Given the description of an element on the screen output the (x, y) to click on. 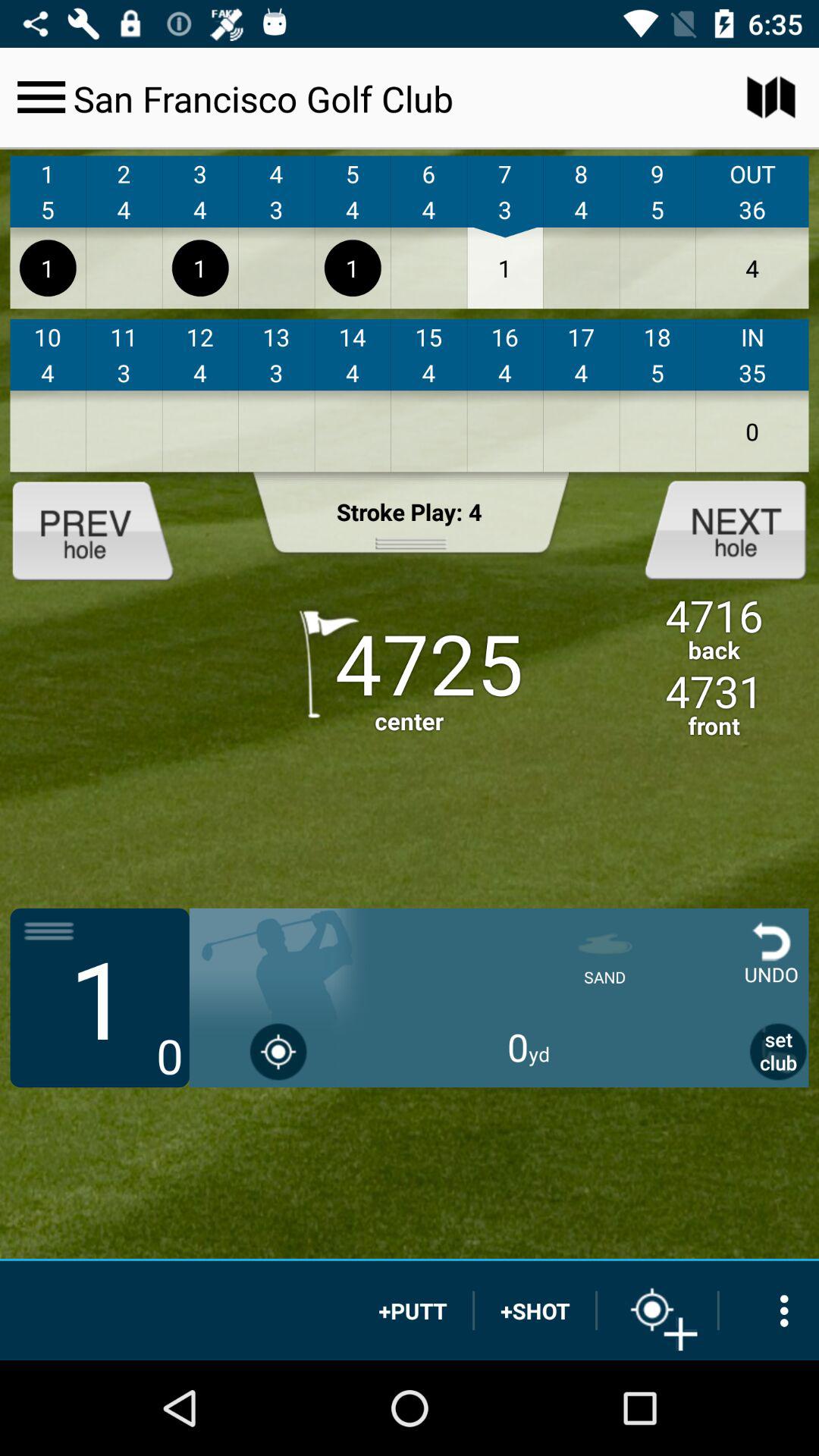
go to overview option (769, 1310)
